Given the description of an element on the screen output the (x, y) to click on. 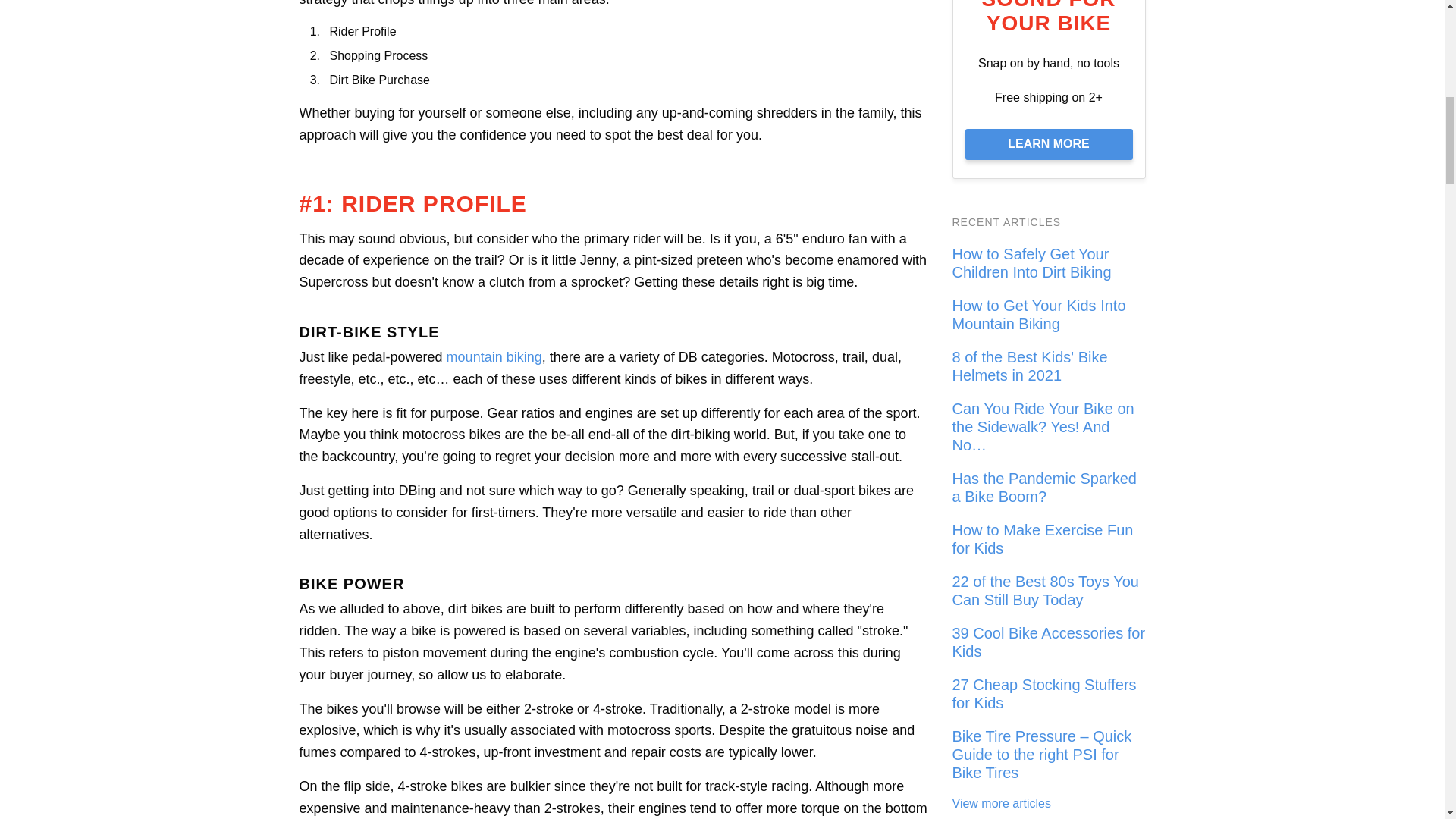
mountain biking (493, 356)
